Given the description of an element on the screen output the (x, y) to click on. 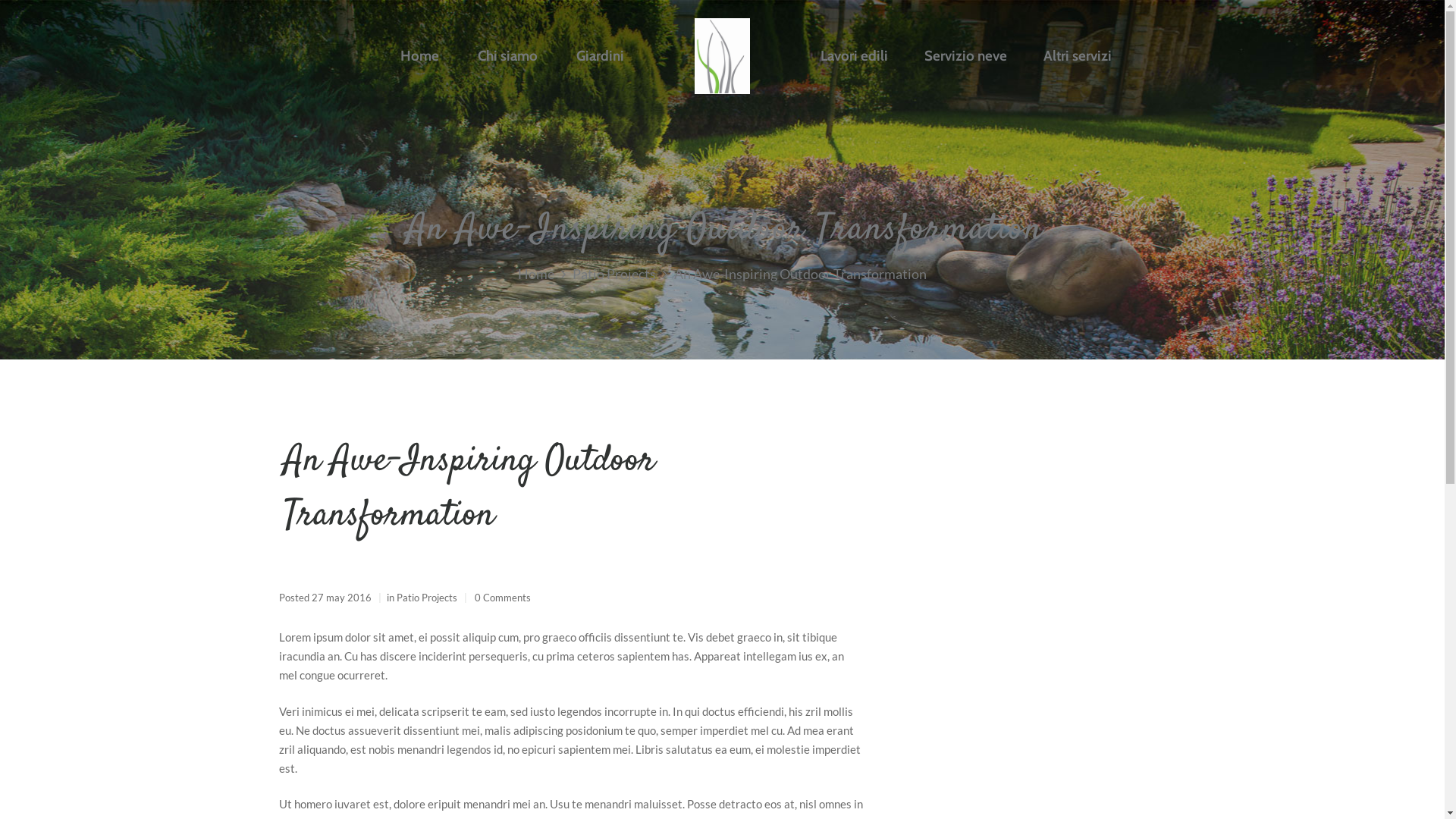
Giardini Element type: text (600, 56)
0 Comments Element type: text (502, 597)
Patio Projects Element type: text (613, 274)
27 may 2016 Element type: text (340, 597)
Home Element type: text (419, 56)
Patio Projects Element type: text (425, 597)
Home Element type: text (535, 274)
Chi siamo Element type: text (507, 56)
Lavori edili Element type: text (854, 56)
Servizio neve Element type: text (965, 56)
Altri servizi Element type: text (1077, 56)
